Given the description of an element on the screen output the (x, y) to click on. 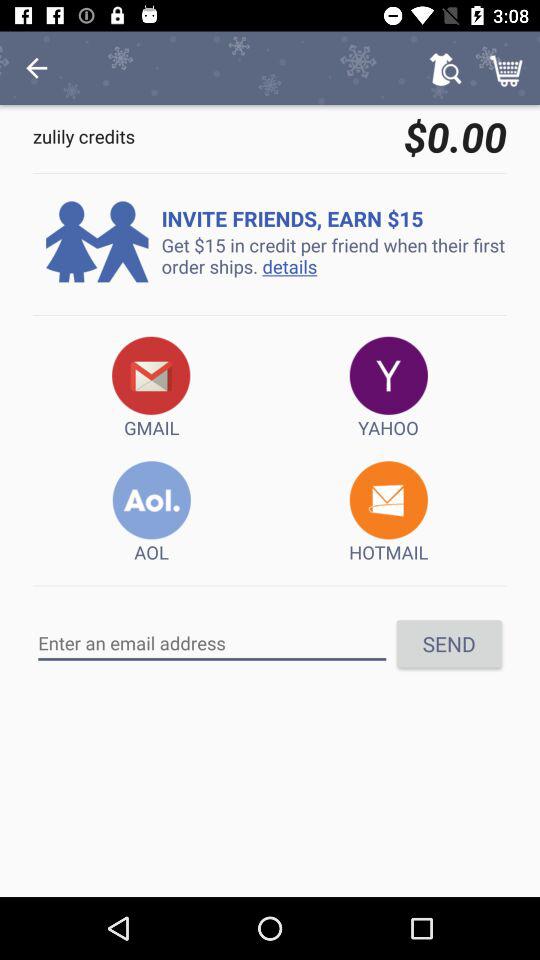
turn on aol item (151, 512)
